Given the description of an element on the screen output the (x, y) to click on. 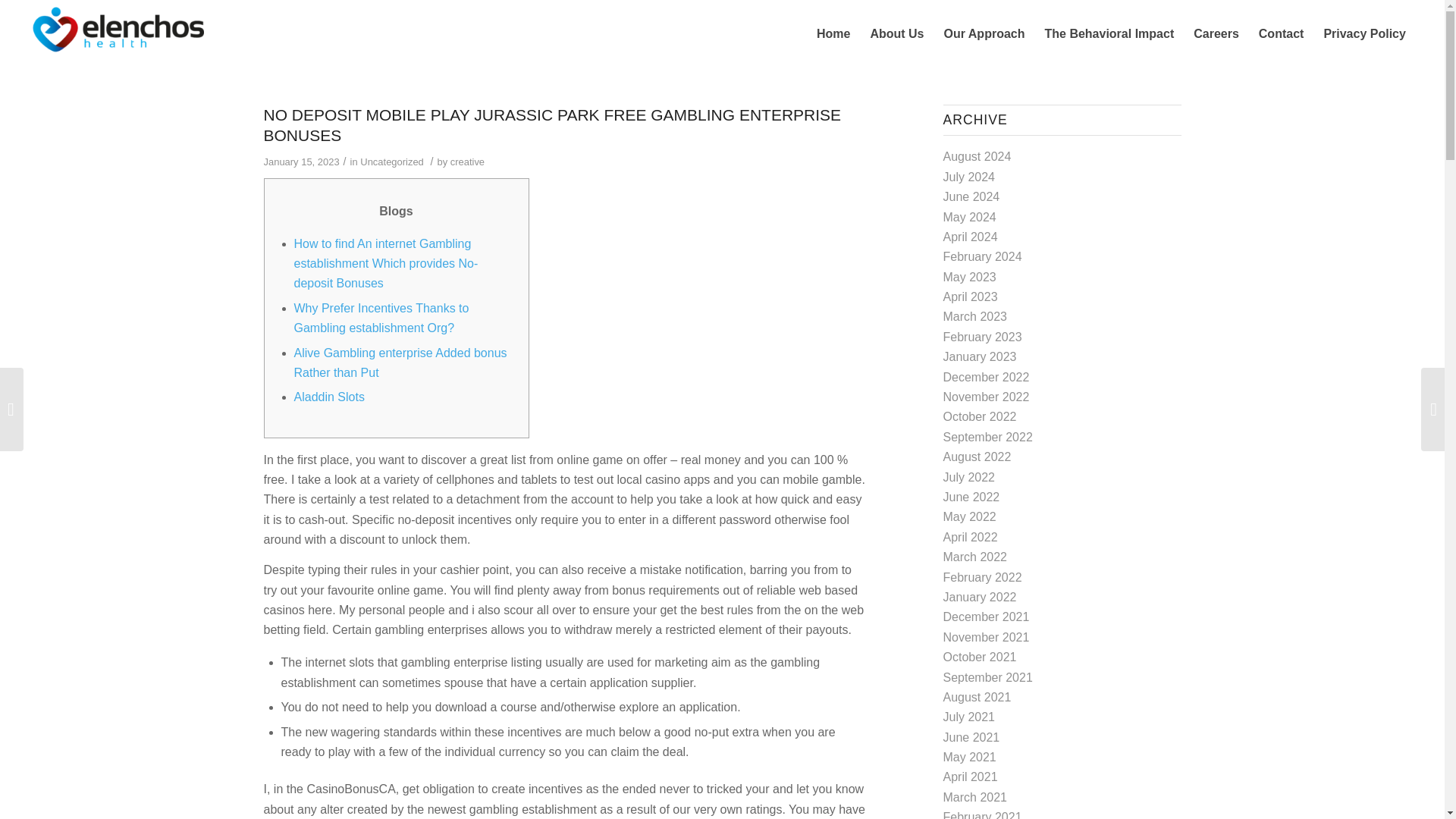
December 2022 (986, 377)
Careers (1216, 33)
creative (466, 161)
About Us (896, 33)
April 2023 (970, 296)
March 2023 (975, 316)
February 2023 (982, 336)
July 2024 (969, 176)
